Given the description of an element on the screen output the (x, y) to click on. 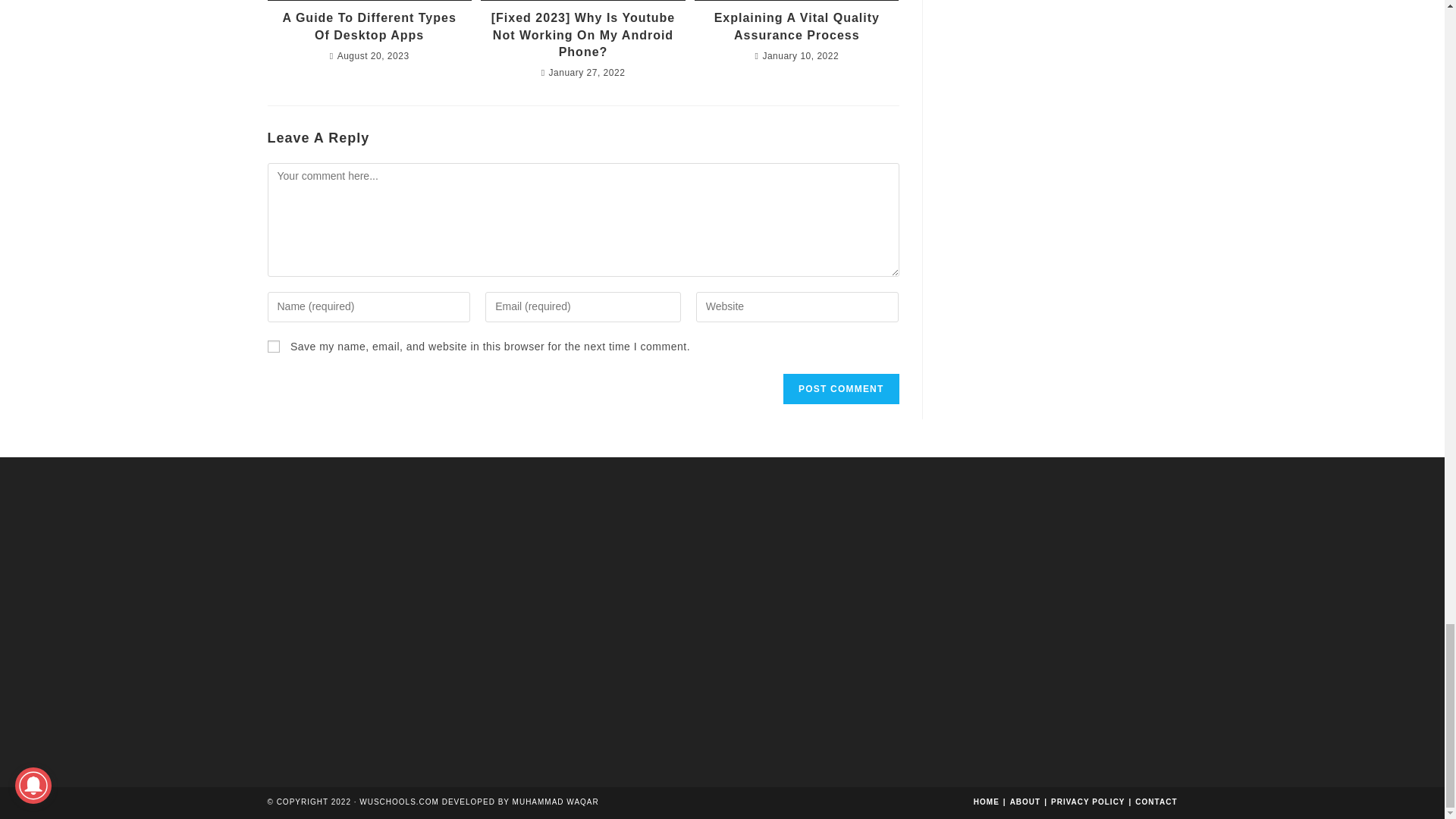
yes (272, 346)
Post Comment (840, 388)
